Given the description of an element on the screen output the (x, y) to click on. 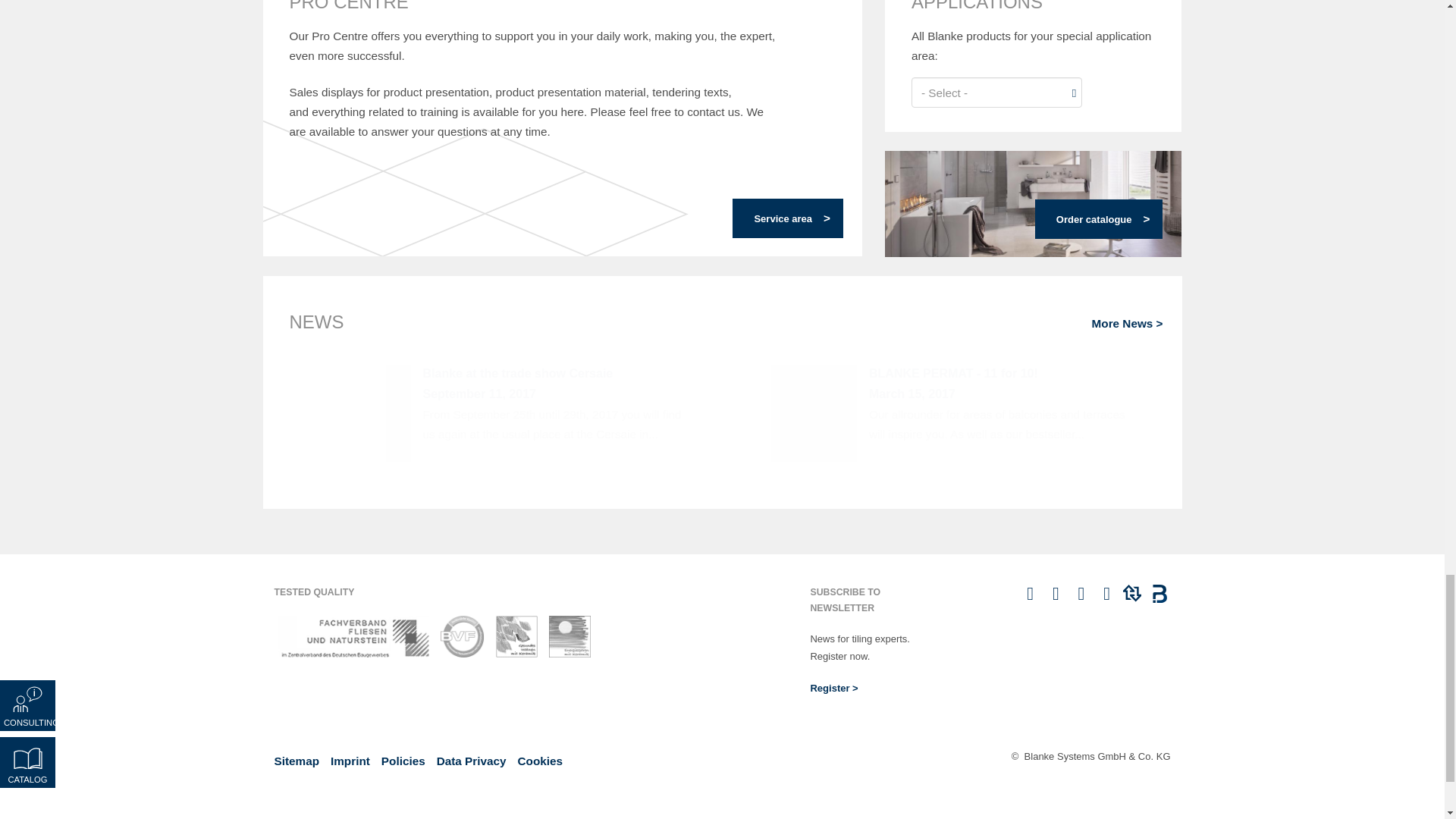
Bauspot (1157, 596)
linkedin (1106, 596)
heinze (1131, 596)
instagram (1030, 596)
youtube (1081, 596)
facebook (1055, 596)
